Given the description of an element on the screen output the (x, y) to click on. 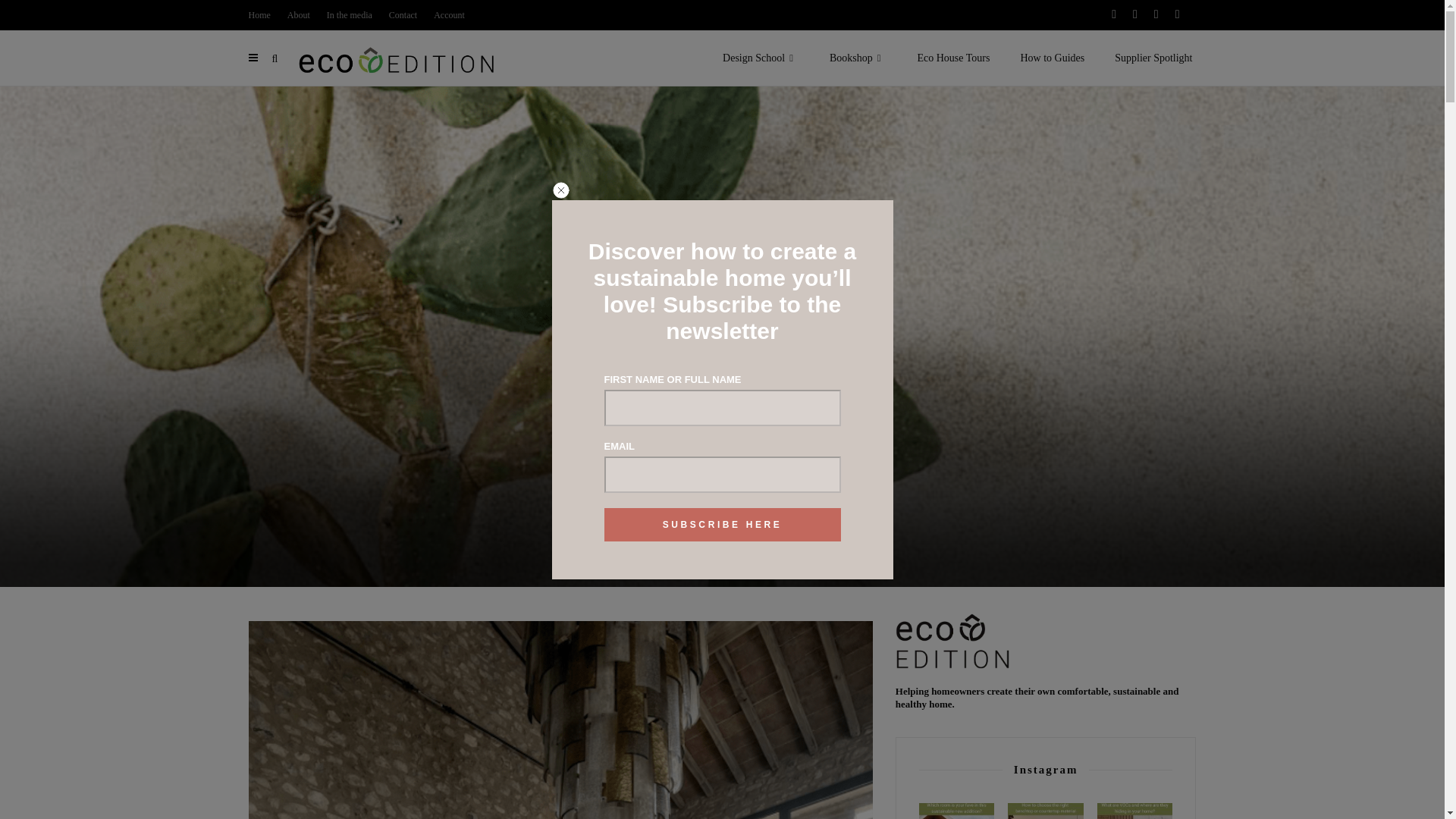
Eco House Tours (952, 57)
How to Guides (1051, 57)
Close (560, 194)
Account (448, 15)
In the media (349, 15)
Contact (402, 15)
SUPPLIER SPOTLIGHT (722, 445)
Subscribe here (722, 524)
Design School (760, 57)
Bookshop (857, 57)
Supplier Spotlight (1153, 57)
